Given the description of an element on the screen output the (x, y) to click on. 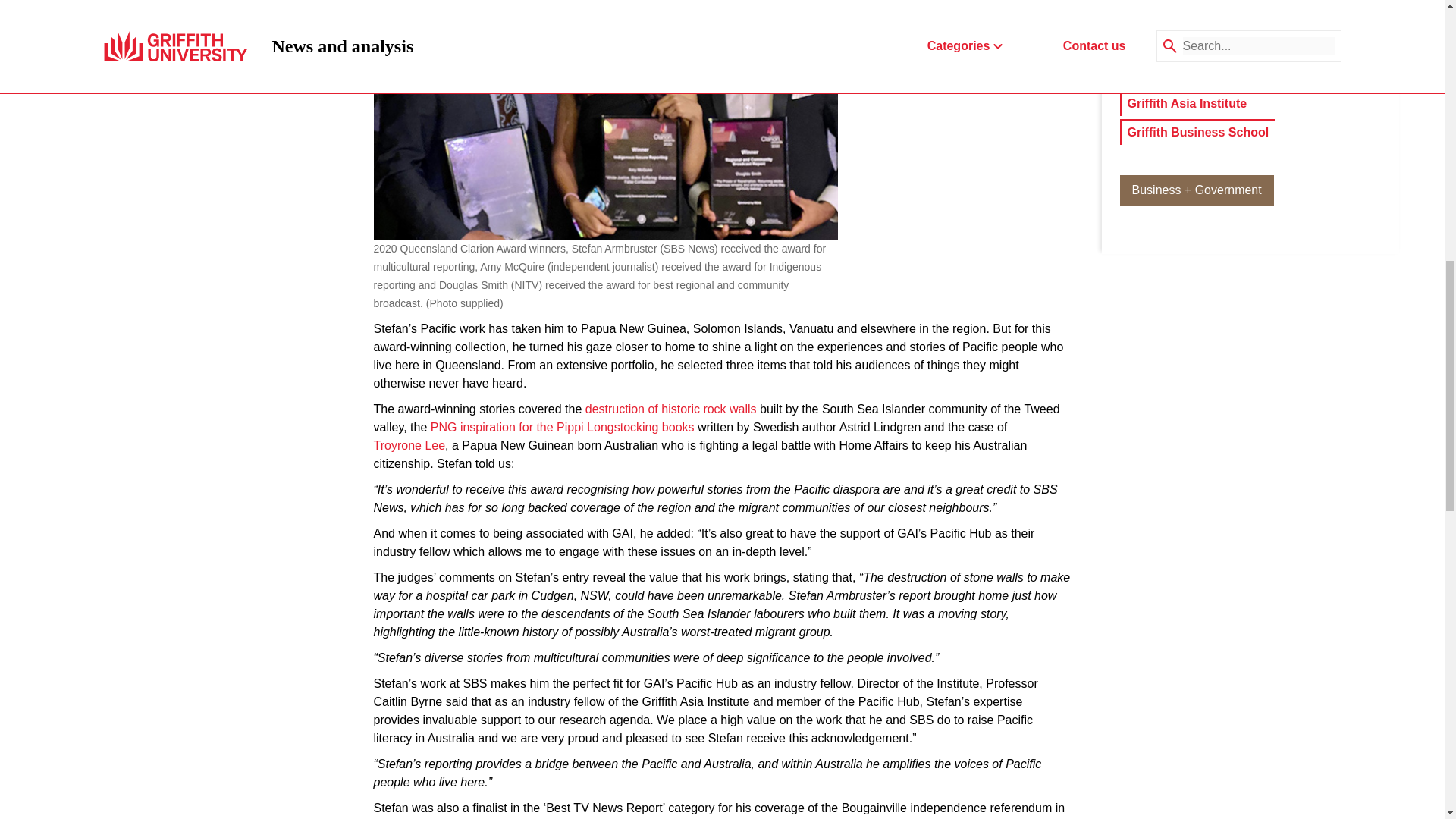
destruction of historic rock walls (671, 409)
Griffith Asia Institute (1186, 104)
Troyrone Lee (408, 445)
PNG inspiration for the Pippi Longstocking books (562, 427)
Griffith Business School (1197, 132)
